Given the description of an element on the screen output the (x, y) to click on. 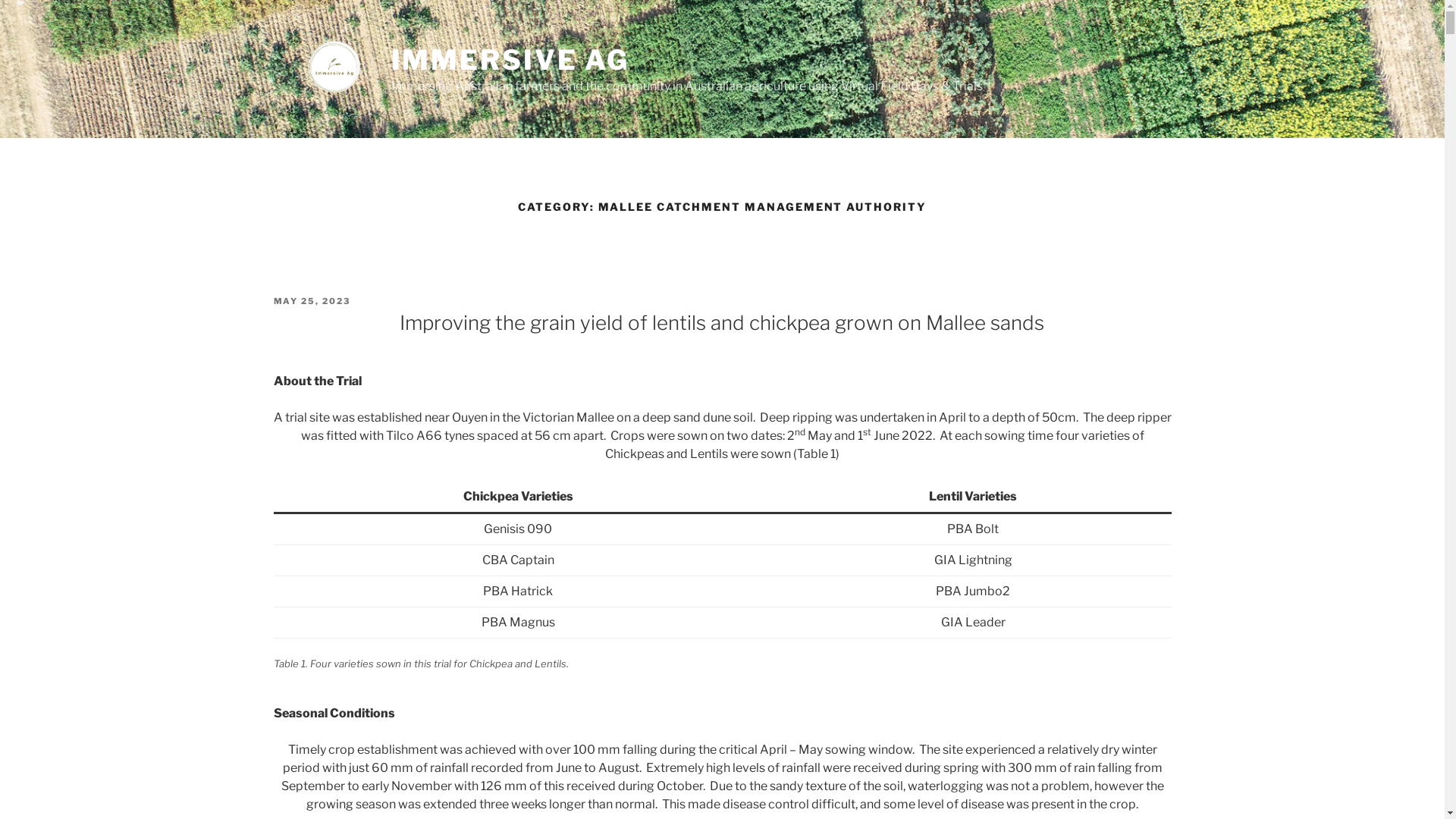
MAY 25, 2023 Element type: text (311, 300)
IMMERSIVE AG Element type: text (510, 59)
